Given the description of an element on the screen output the (x, y) to click on. 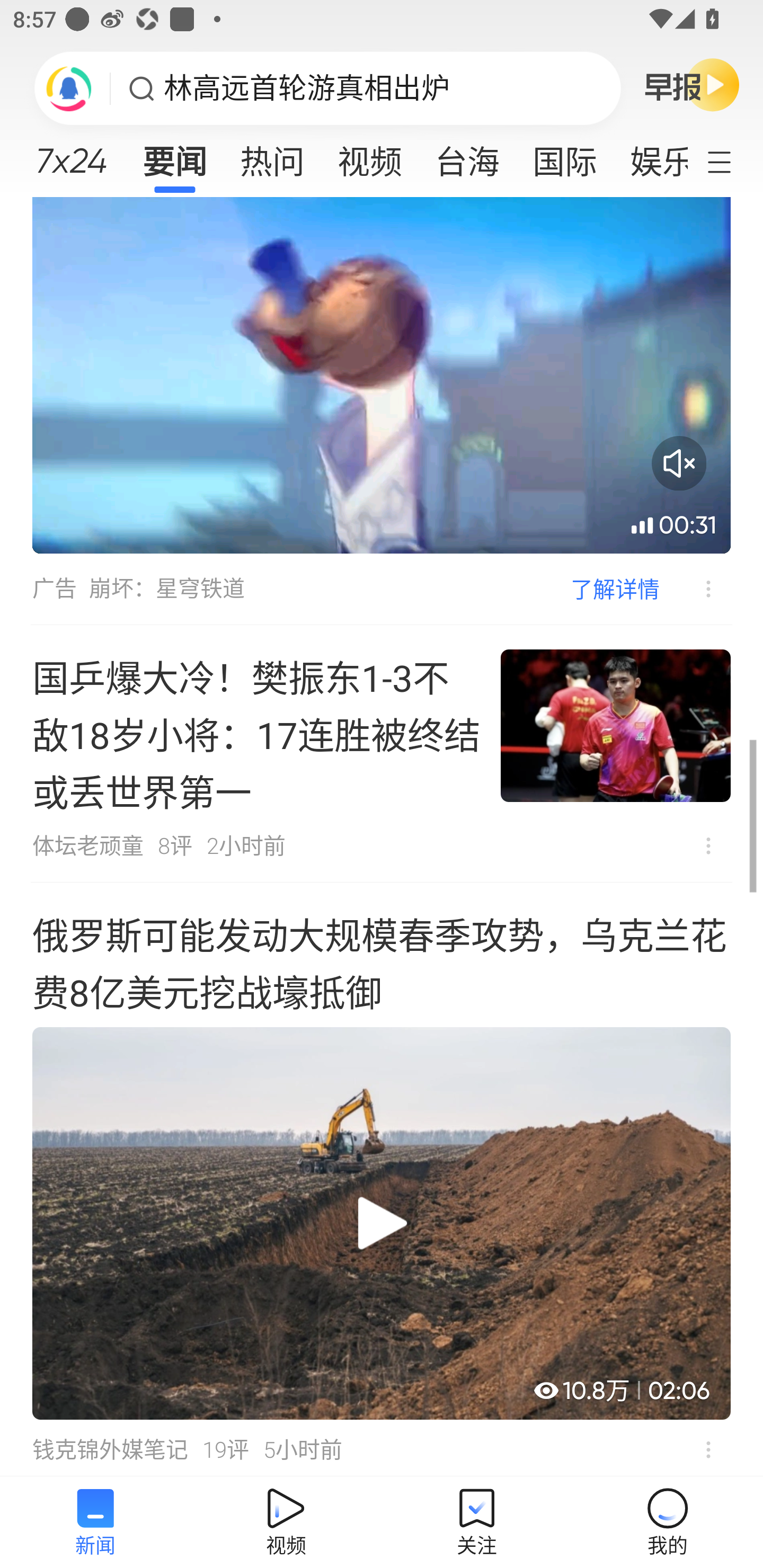
早晚报 (691, 84)
刷新 (68, 88)
林高远首轮游真相出炉 (307, 88)
7x24 (70, 154)
要闻 (174, 155)
热问 (272, 155)
视频 (369, 155)
台海 (466, 155)
国际 (564, 155)
娱乐 (650, 155)
 定制频道 (731, 160)
00:31 音量开关 (381, 375)
音量开关 (678, 462)
 不感兴趣 (694, 588)
了解详情 (614, 588)
广告 (54, 588)
崩坏：星穹铁道 (166, 588)
 不感兴趣 (707, 845)
 不感兴趣 (707, 1449)
